Given the description of an element on the screen output the (x, y) to click on. 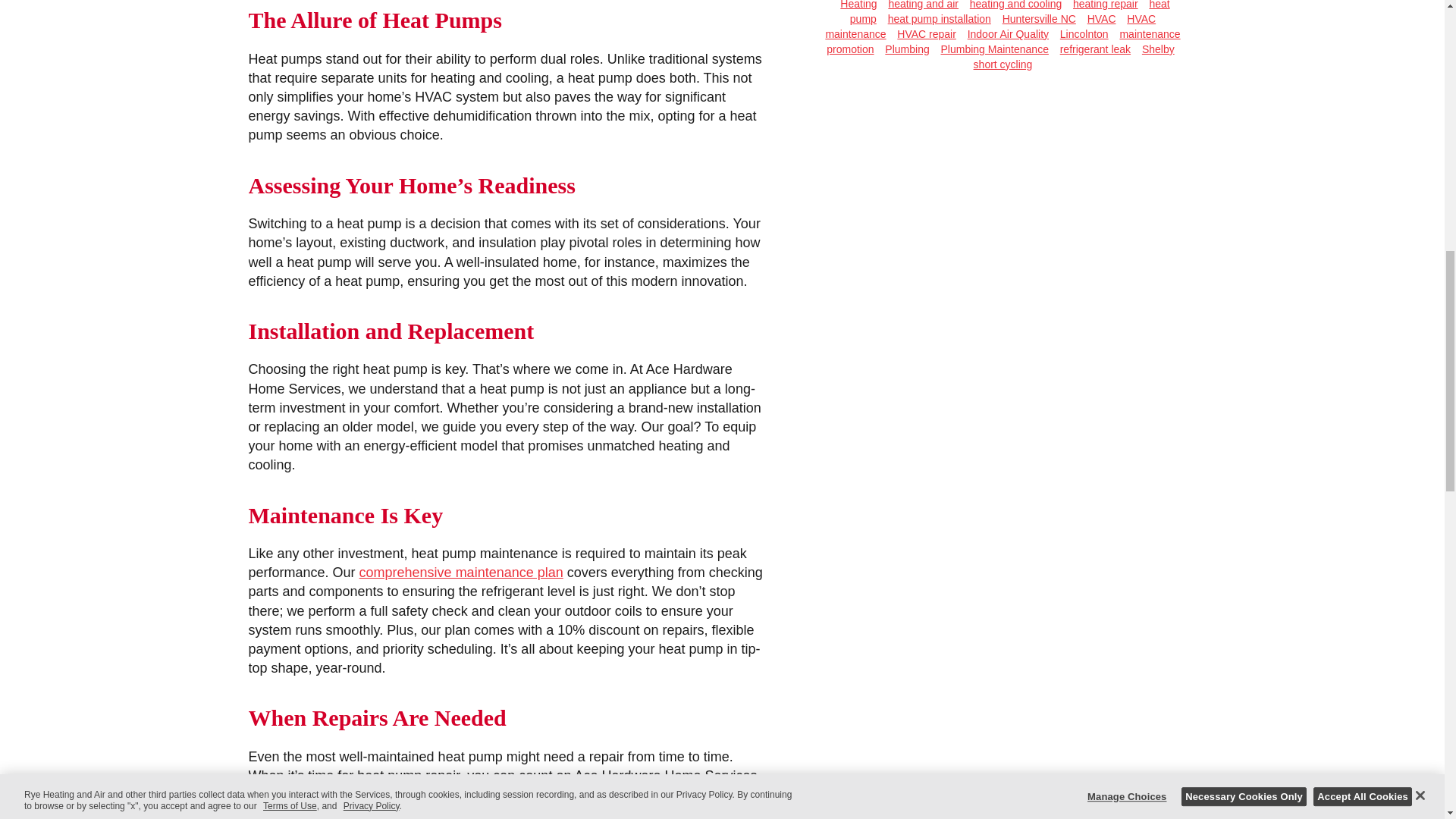
comprehensive maintenance plan (461, 572)
